Given the description of an element on the screen output the (x, y) to click on. 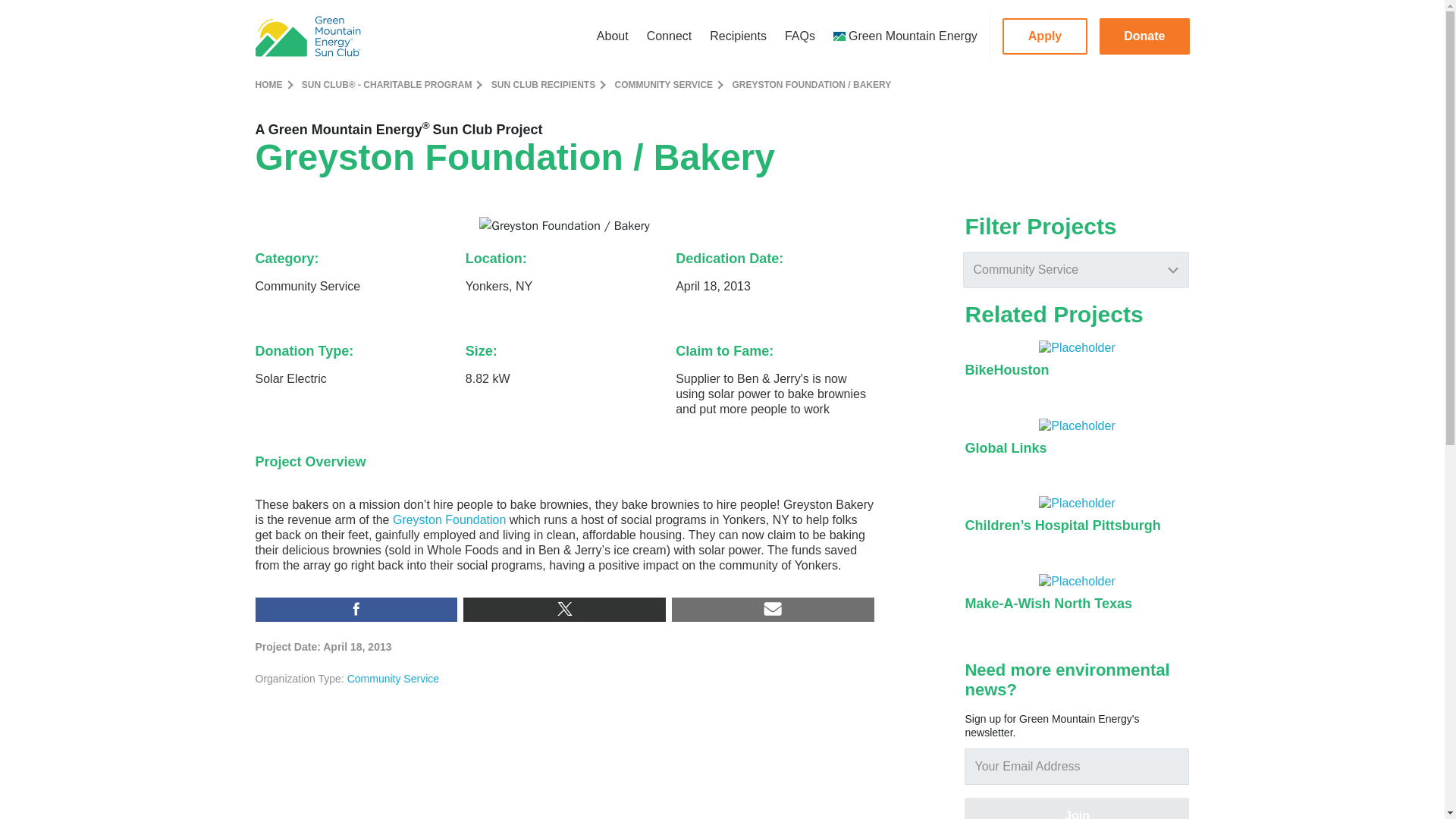
Join (1076, 808)
About (612, 36)
Global Links (1004, 447)
Greyston Foundation (449, 519)
SUN CLUB RECIPIENTS (543, 84)
Make-A-Wish North Texas (1047, 603)
Connect (669, 36)
COMMUNITY SERVICE (663, 84)
